Given the description of an element on the screen output the (x, y) to click on. 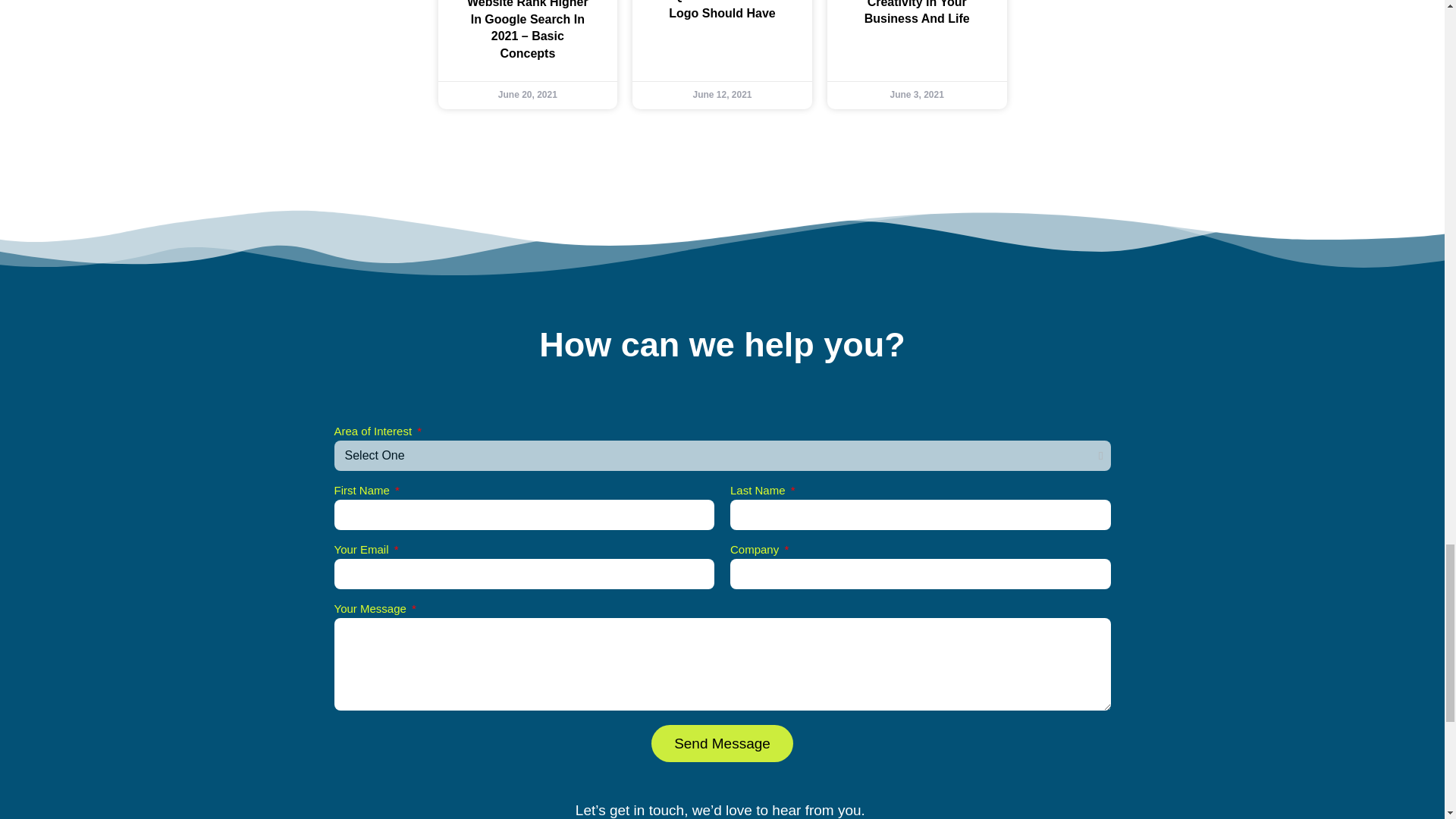
Qualities A Great Logo Should Have (721, 9)
Send Message (721, 743)
How To Develop Creativity In Your Business And Life (916, 12)
